Given the description of an element on the screen output the (x, y) to click on. 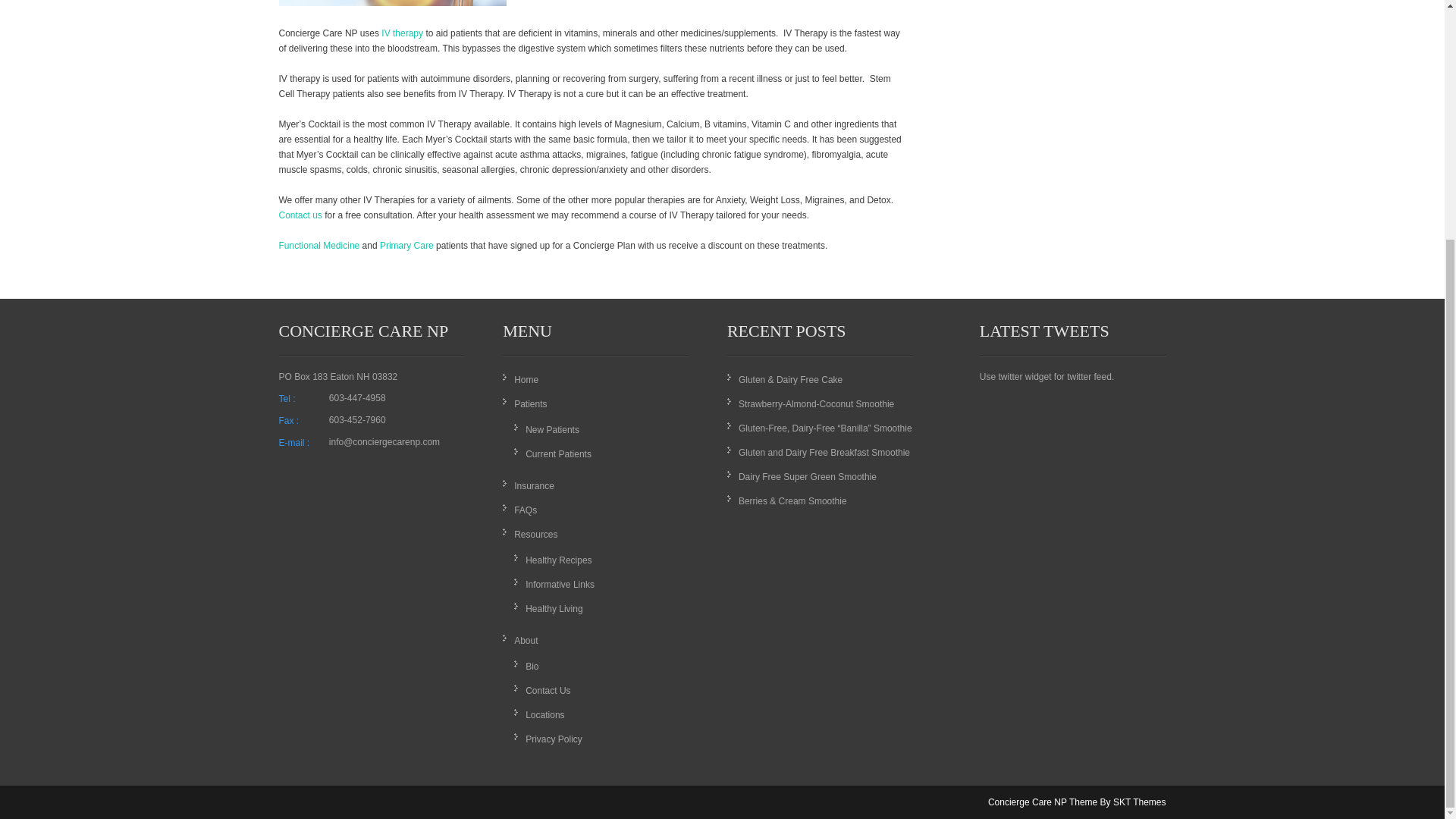
Healthy Recipes (558, 560)
Insurance (533, 485)
Functional Medicine (319, 245)
Privacy Policy (553, 738)
Locations (544, 715)
Healthy Living (553, 608)
Resources (535, 534)
Primary Care (406, 245)
Home (525, 379)
New Patients (552, 429)
Patients (530, 403)
About (525, 640)
FAQs (525, 510)
Contact Us (547, 690)
Bio (531, 665)
